Given the description of an element on the screen output the (x, y) to click on. 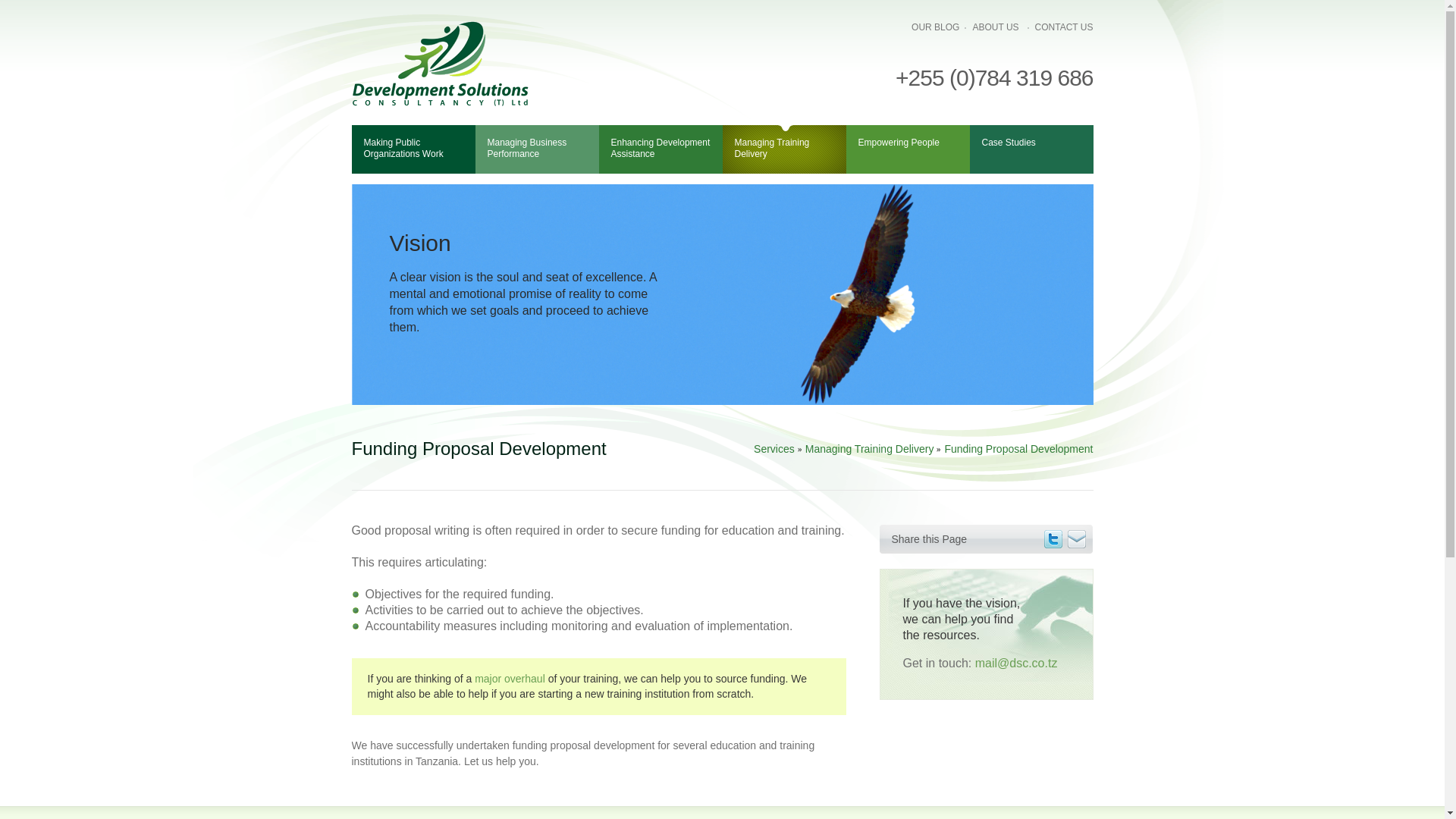
Development Solutions Consultancy (439, 63)
major overhaul (509, 678)
CONTACT US (1064, 27)
Enhancing Development Assistance (660, 149)
Managing Business Performance (536, 149)
twitter (1052, 538)
email (1076, 538)
Making Public Organizations Work (414, 149)
Empowering People (907, 149)
Services (774, 449)
Managing Training Delivery (869, 449)
Managing Training Delivery (783, 149)
Case Studies (1031, 149)
OUR BLOG (935, 27)
Funding Proposal Development (1018, 449)
